Given the description of an element on the screen output the (x, y) to click on. 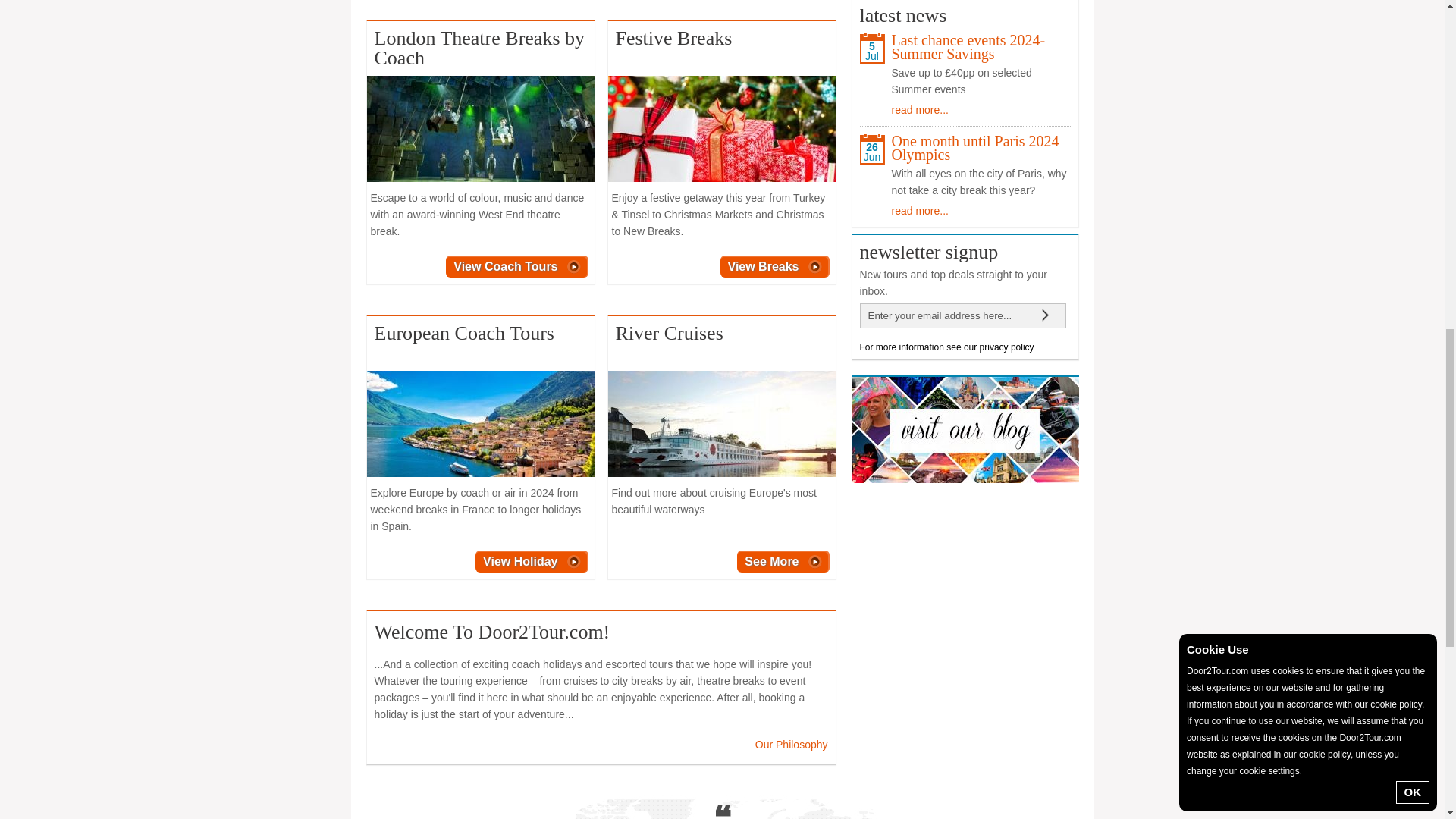
Enter your email address here... (945, 315)
blog image (964, 429)
